Given the description of an element on the screen output the (x, y) to click on. 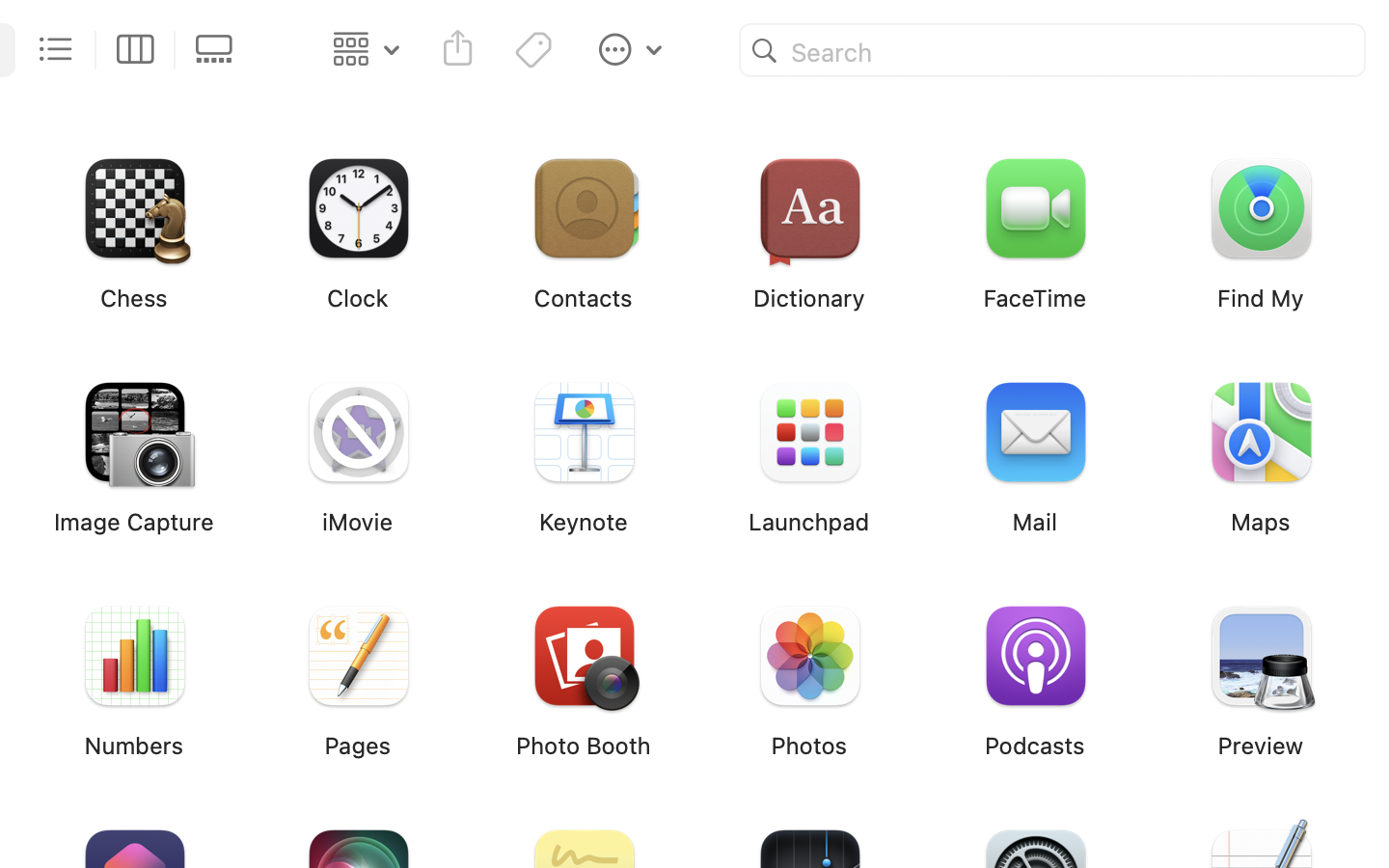
0 Element type: AXRadioButton (219, 49)
